Given the description of an element on the screen output the (x, y) to click on. 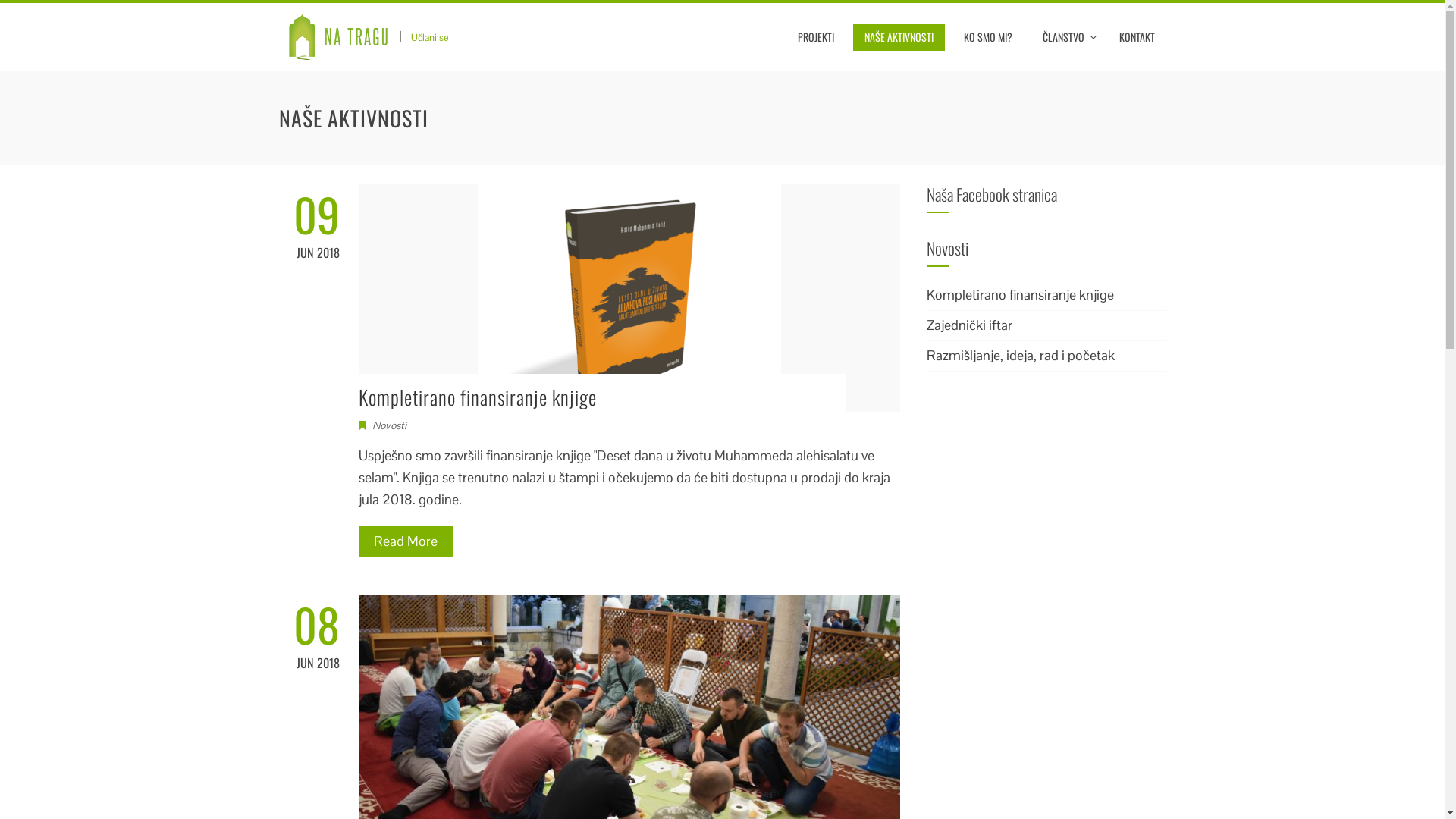
Kompletirano finansiranje knjige Element type: text (476, 396)
Novosti Element type: text (388, 425)
KONTAKT Element type: text (1136, 36)
KO SMO MI? Element type: text (987, 36)
Kompletirano finansiranje knjige Element type: text (1019, 294)
PROJEKTI Element type: text (814, 36)
Read More Element type: text (404, 541)
